Given the description of an element on the screen output the (x, y) to click on. 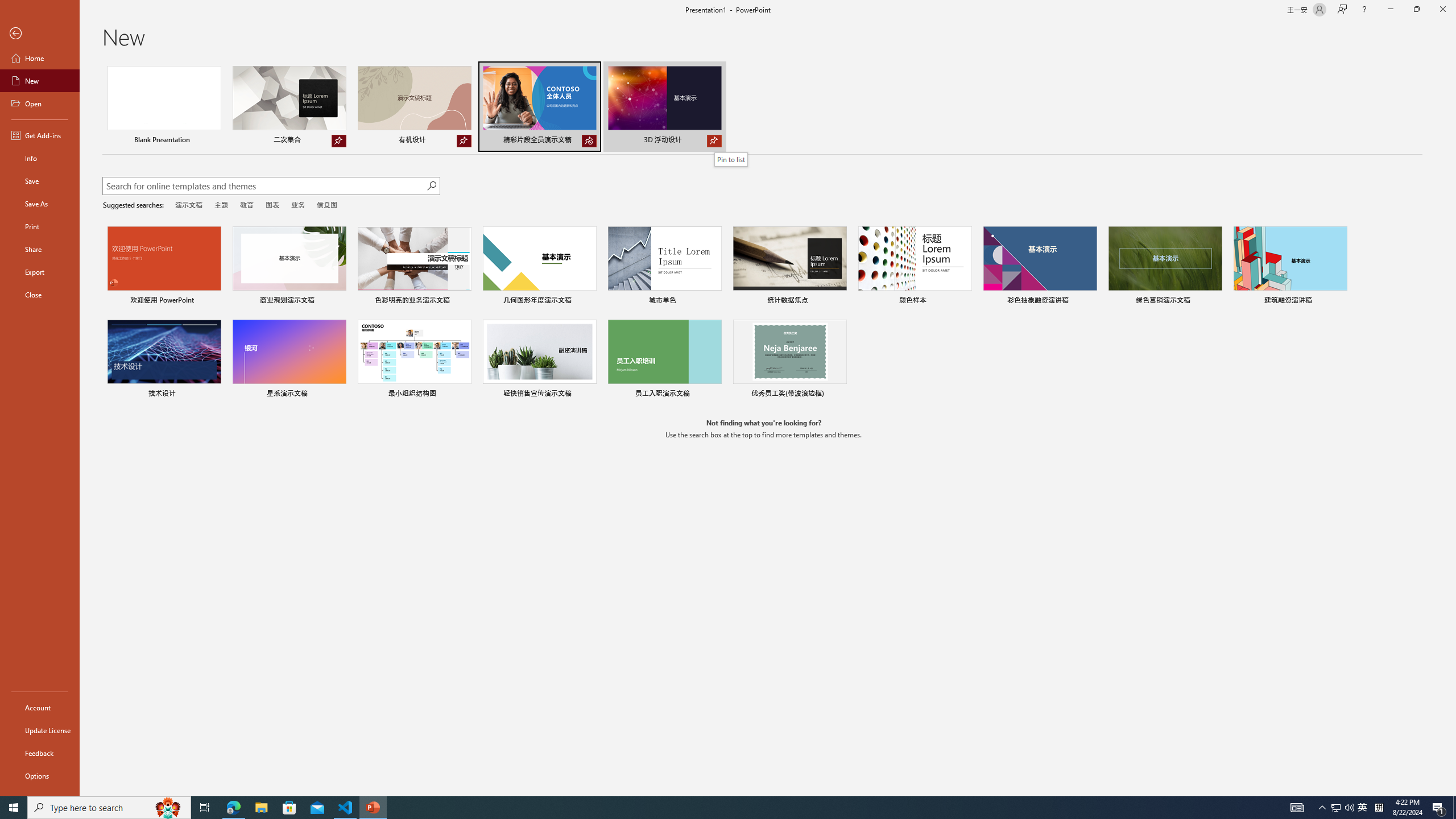
Get Add-ins (40, 134)
Unpin from list (589, 141)
Save As (40, 203)
Class: NetUIScrollBar (1450, 428)
